Given the description of an element on the screen output the (x, y) to click on. 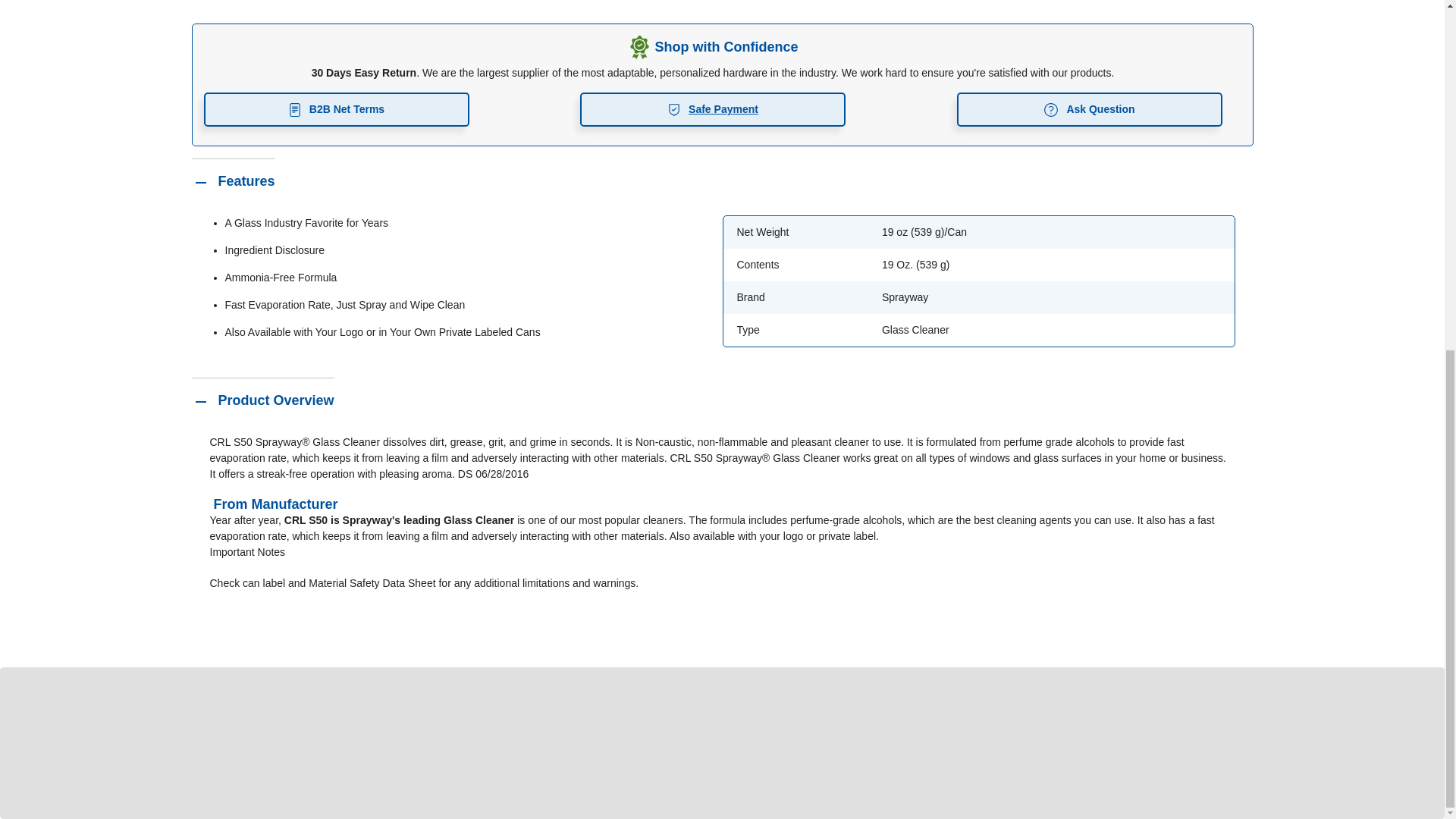
Safe Payment (712, 109)
B2B Net Terms (335, 109)
B2B Net Terms (335, 109)
Product Overview (261, 400)
Features (232, 180)
opens Safe Payment in a new window (712, 109)
Ask Question (1089, 109)
Ask Question (1089, 109)
